Given the description of an element on the screen output the (x, y) to click on. 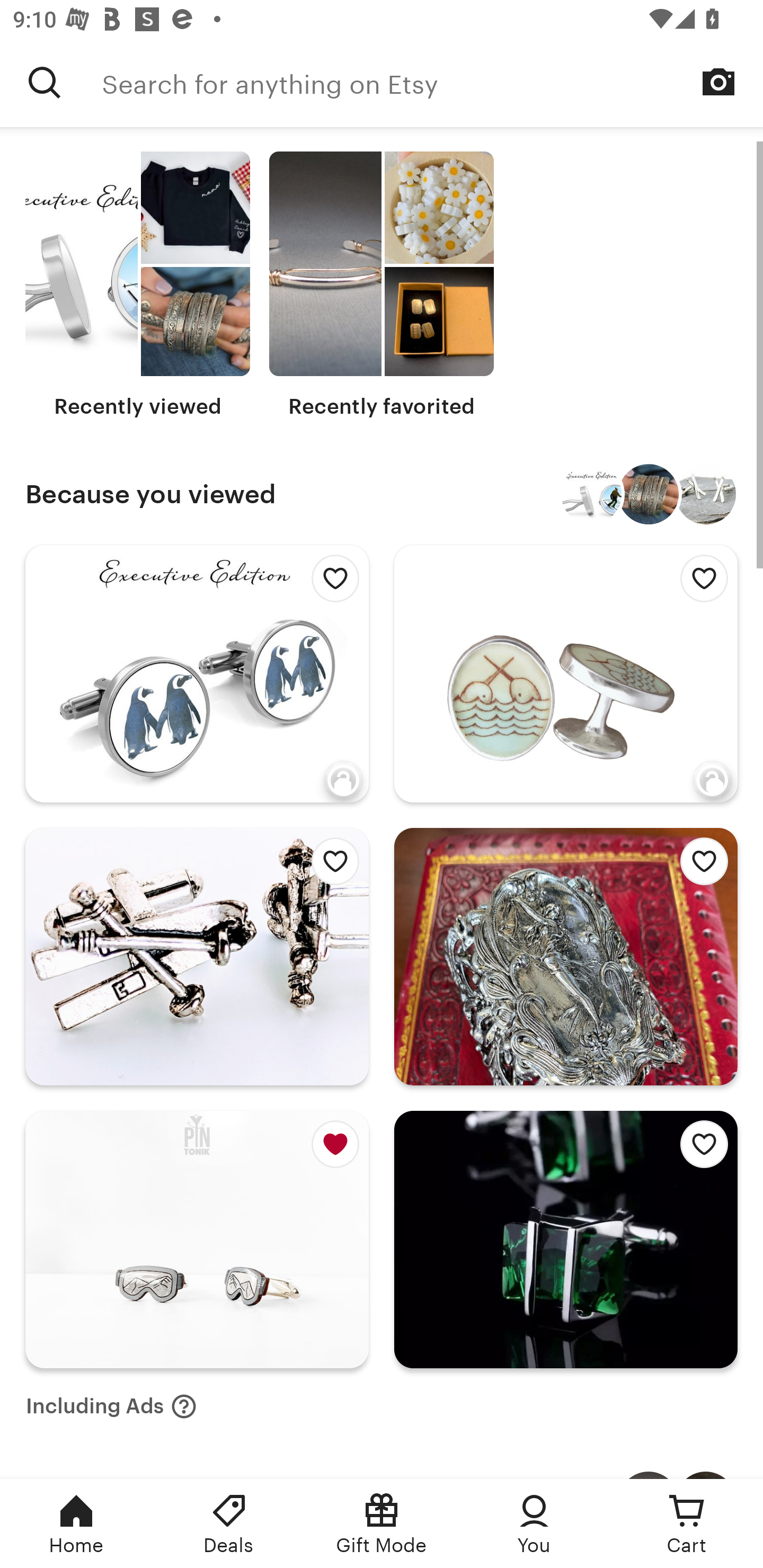
Search for anything on Etsy (44, 82)
Search by image (718, 81)
Search for anything on Etsy (432, 82)
Recently viewed (137, 285)
Recently favorited (381, 285)
Personalised Ski Skiing Silver Cufflinks (705, 494)
Ski Cuff Links Add Ski Cuff Links to favorites (196, 956)
Add Ski Cuff Links to favorites (330, 865)
Including Ads (111, 1406)
Deals (228, 1523)
Gift Mode (381, 1523)
You (533, 1523)
Cart (686, 1523)
